Given the description of an element on the screen output the (x, y) to click on. 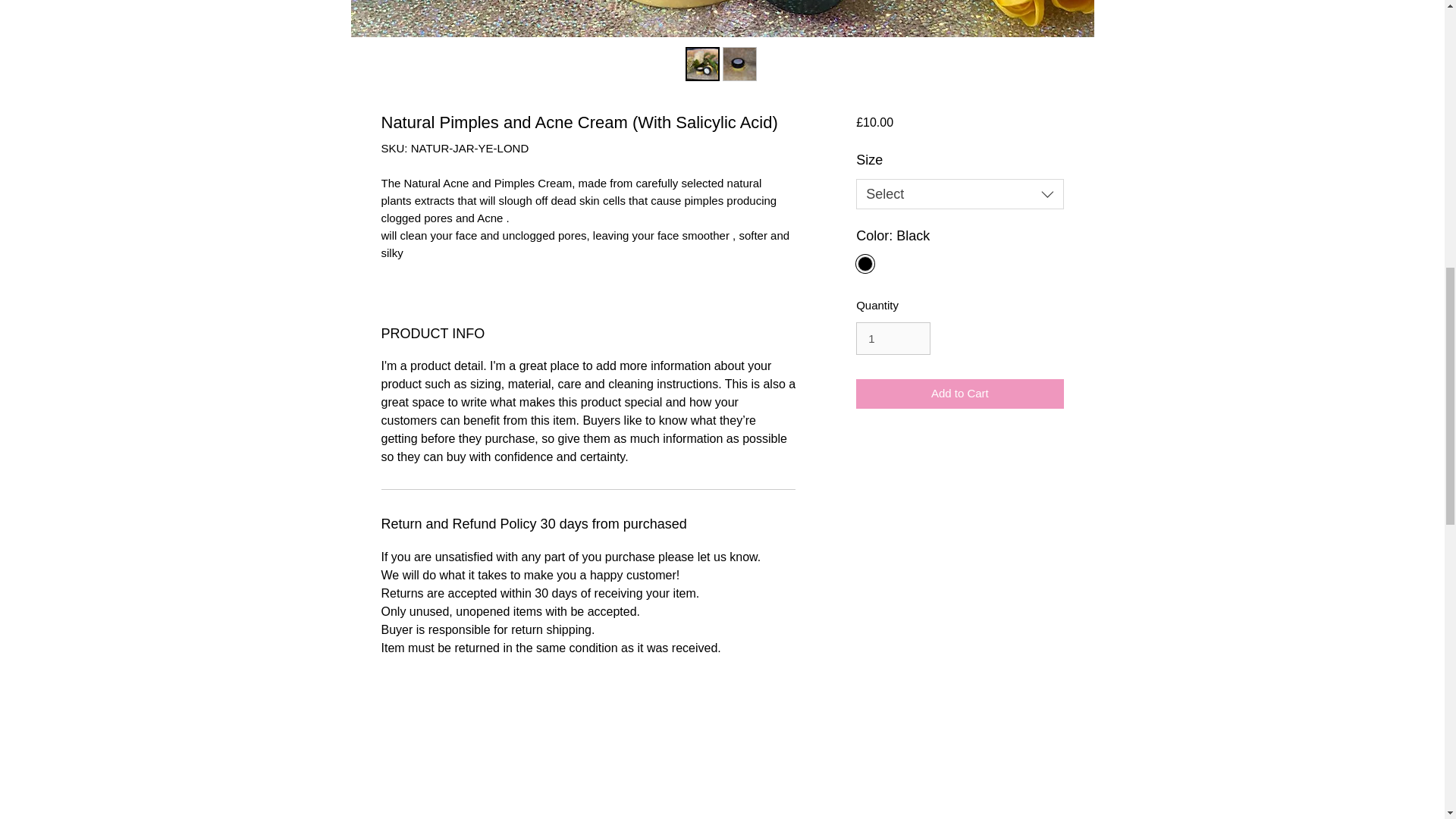
Add to Cart (959, 393)
Select (959, 194)
1 (893, 338)
